Given the description of an element on the screen output the (x, y) to click on. 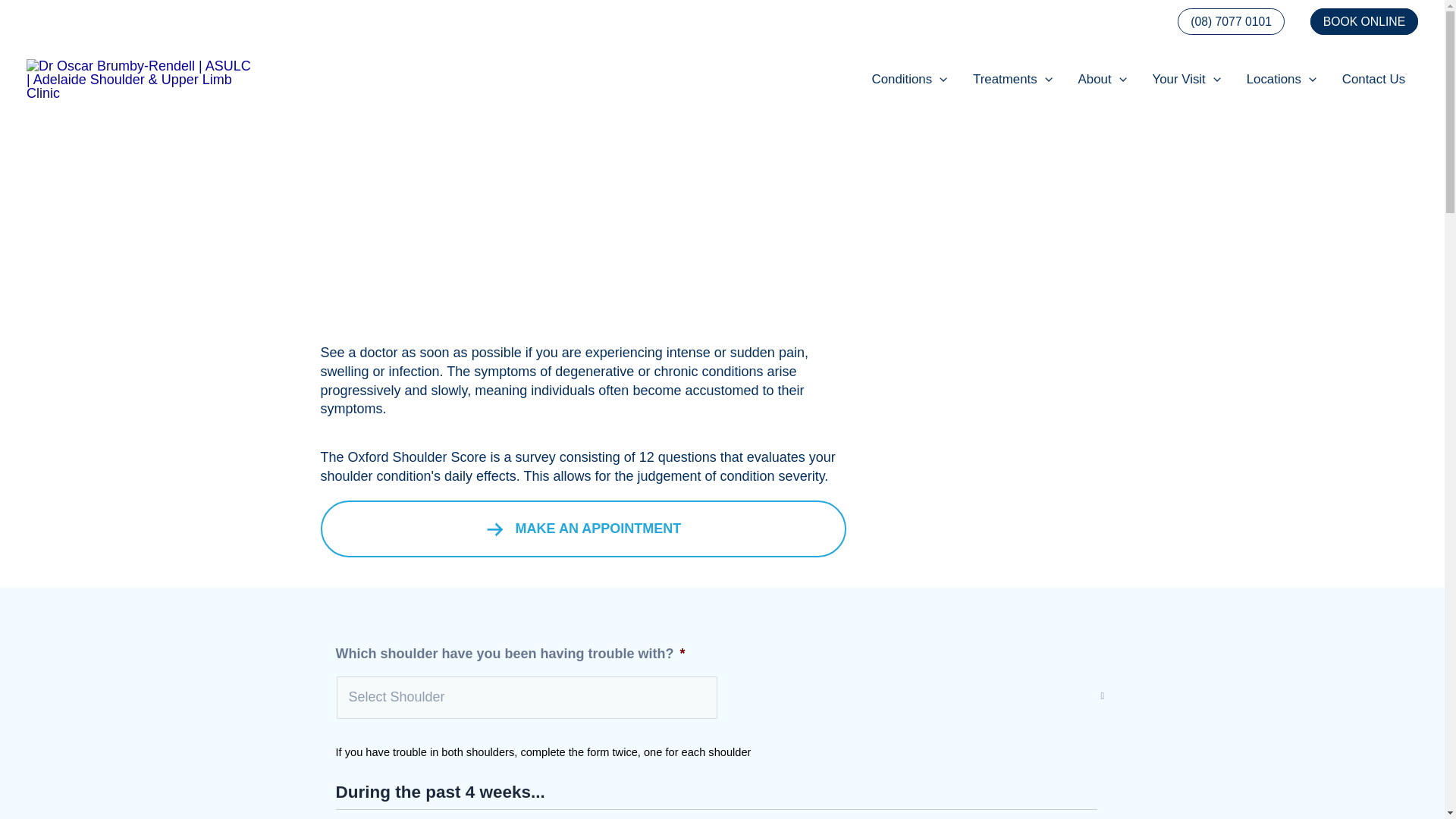
Conditions (909, 78)
BOOK ONLINE (1364, 21)
